Given the description of an element on the screen output the (x, y) to click on. 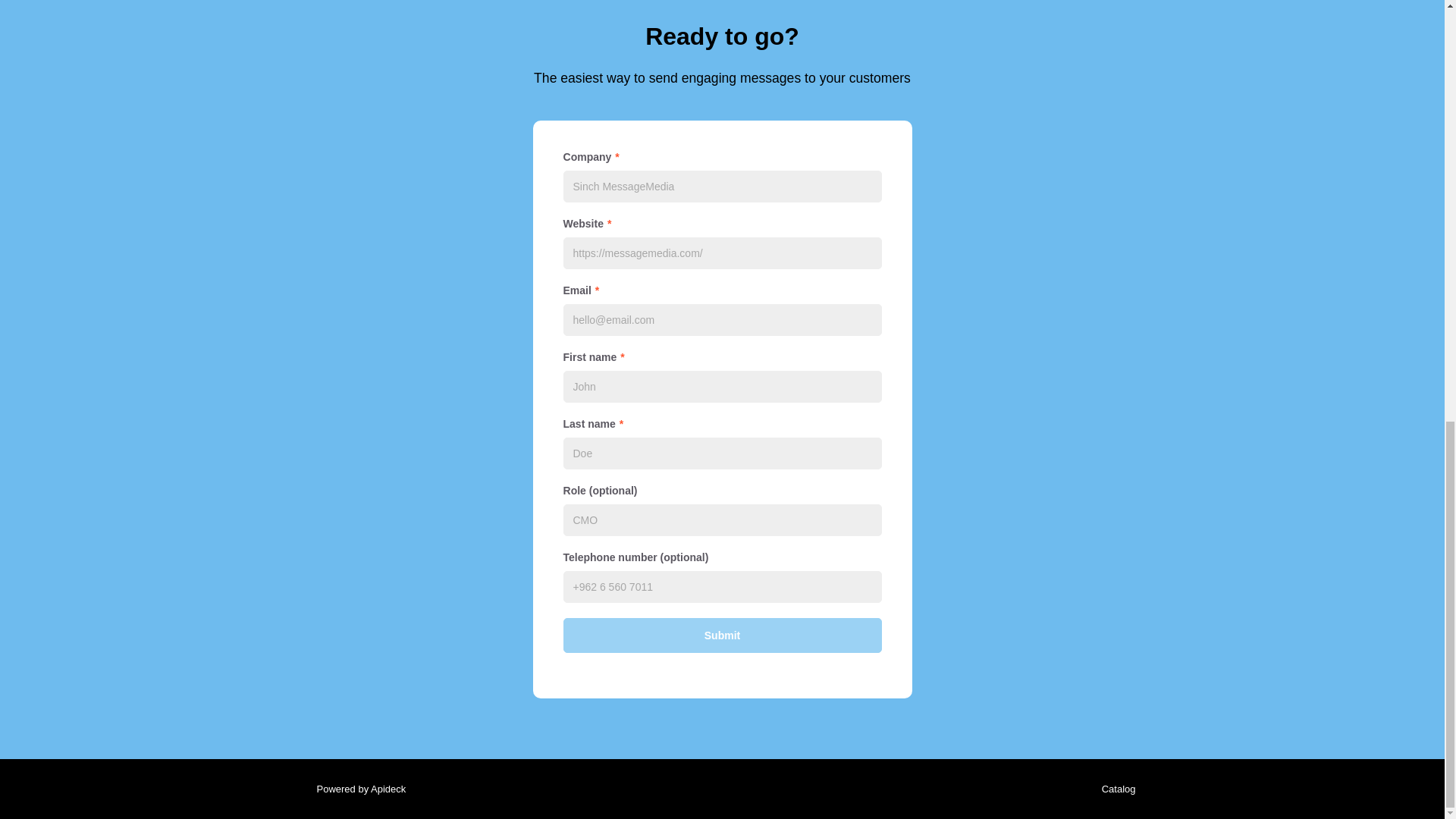
Submit (721, 635)
Catalog (1115, 789)
Powered by Apideck (356, 789)
